Given the description of an element on the screen output the (x, y) to click on. 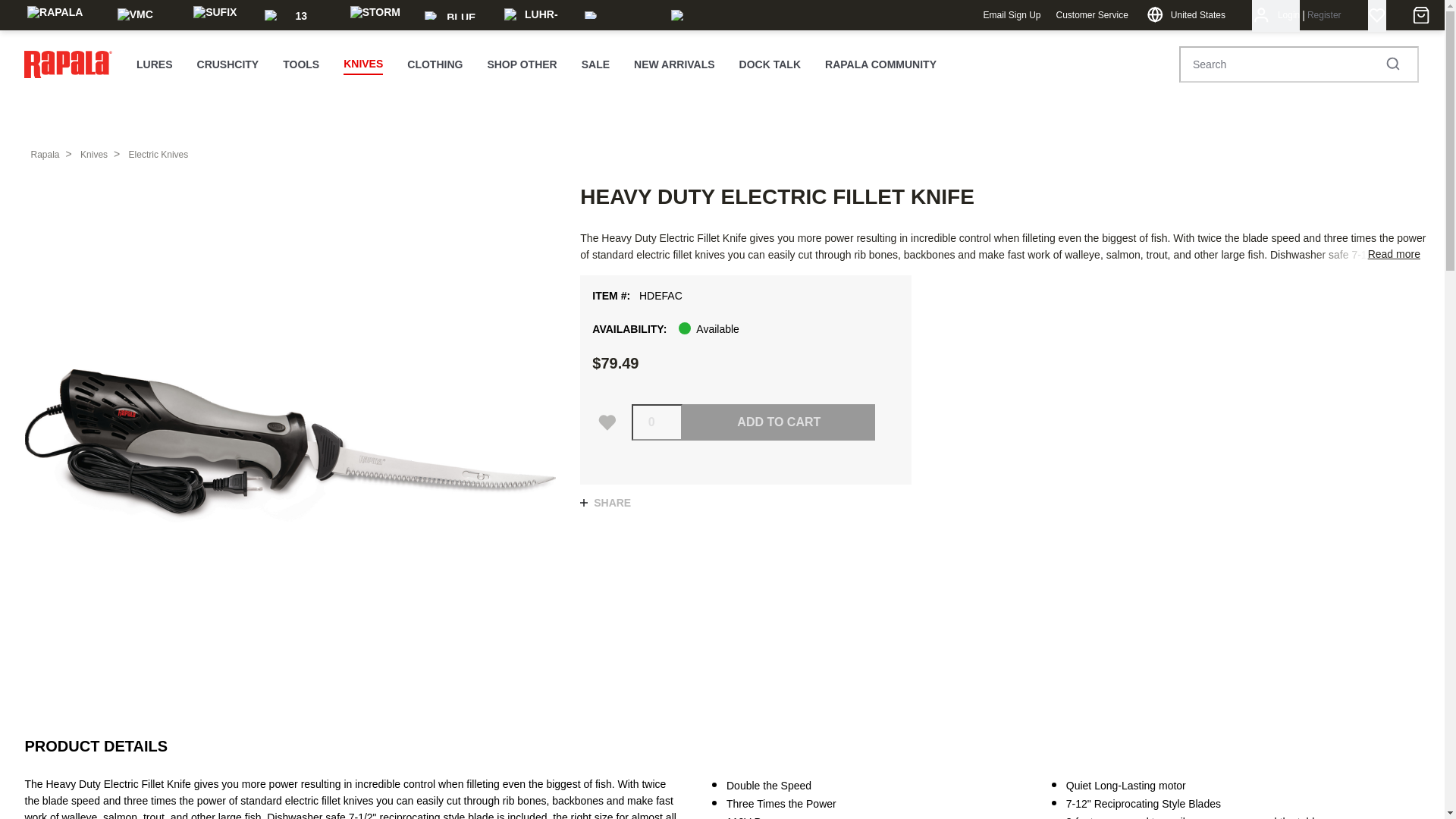
0 (656, 422)
SALE (595, 64)
Home Page (68, 64)
TOOLS (300, 64)
Login (1276, 15)
Register (1323, 15)
Register (1323, 15)
DOCK TALK (769, 64)
Email Sign Up (1011, 15)
Login (1276, 15)
